Given the description of an element on the screen output the (x, y) to click on. 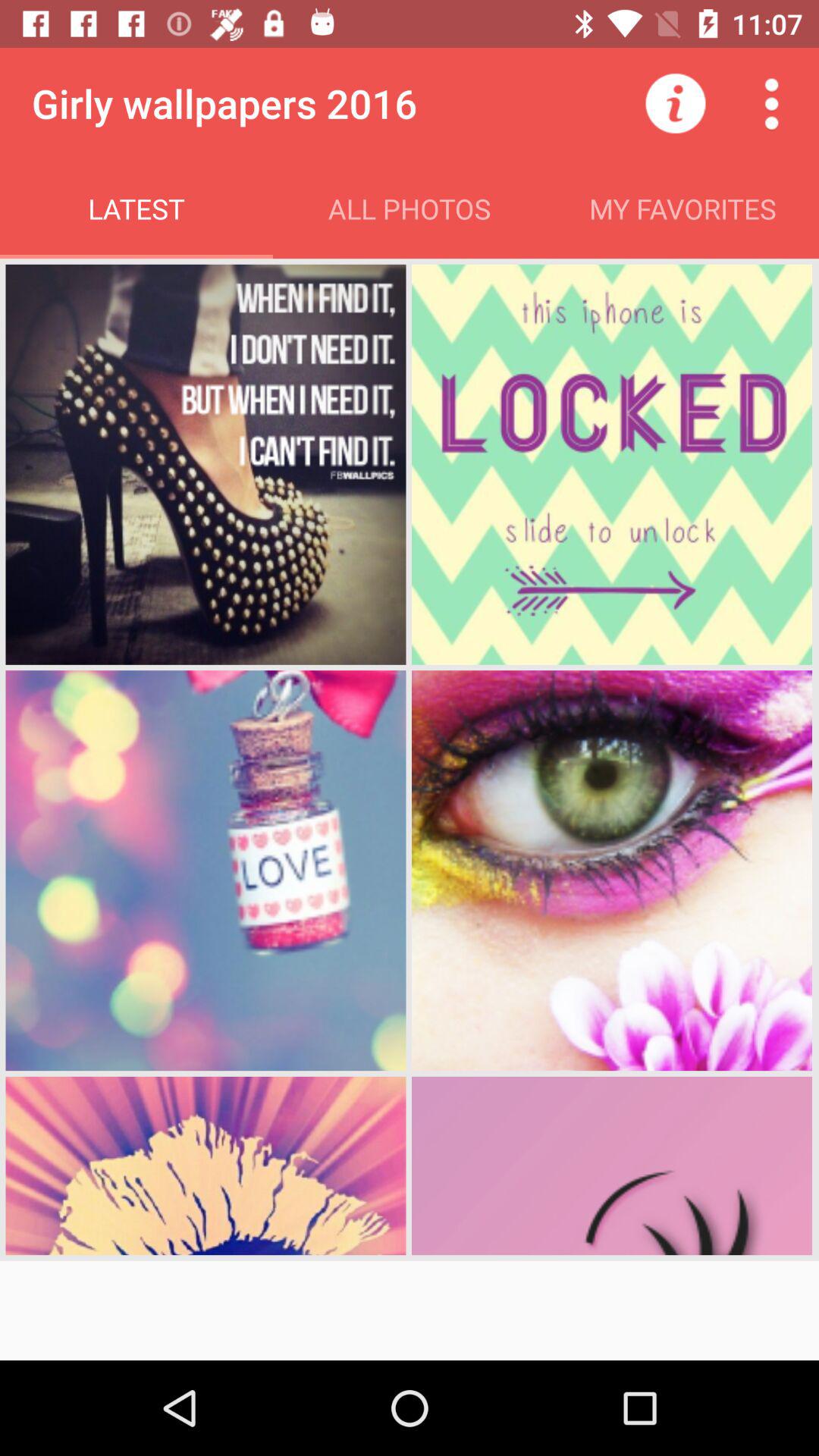
choose the app next to all photos app (675, 103)
